Given the description of an element on the screen output the (x, y) to click on. 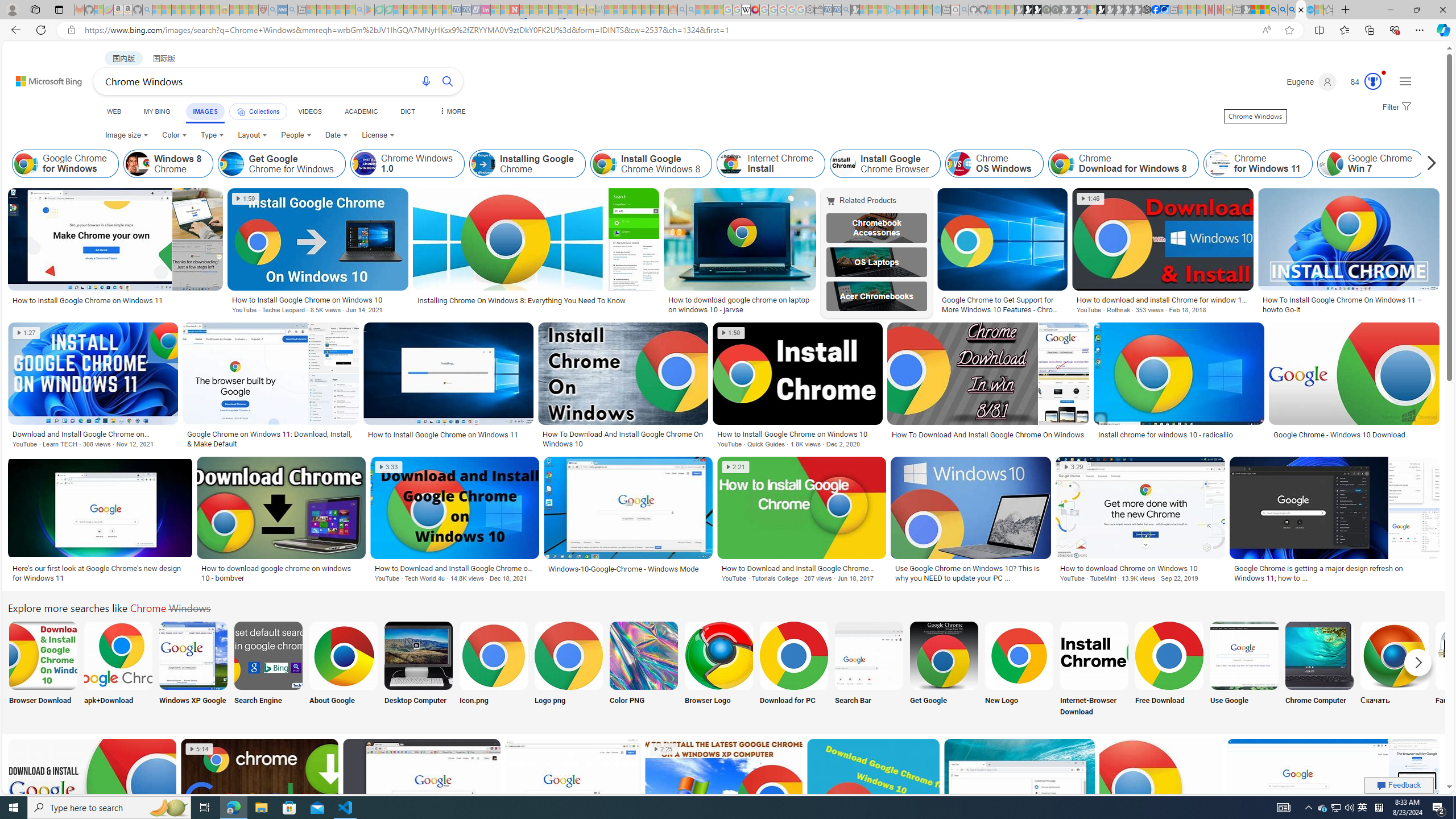
Install chrome for windows 10 - radicallio (1178, 434)
MY BING (156, 111)
Windows XP Google Chrome (192, 654)
Type (212, 135)
Sign in to your account - Sleeping (1090, 9)
Chrome Icon.png (493, 654)
Search Bar (868, 669)
How to Install Google Chrome on Windows 11 (448, 434)
OS Laptops (877, 261)
Windows XP Google Chrome Windows XP Google (192, 669)
